Given the description of an element on the screen output the (x, y) to click on. 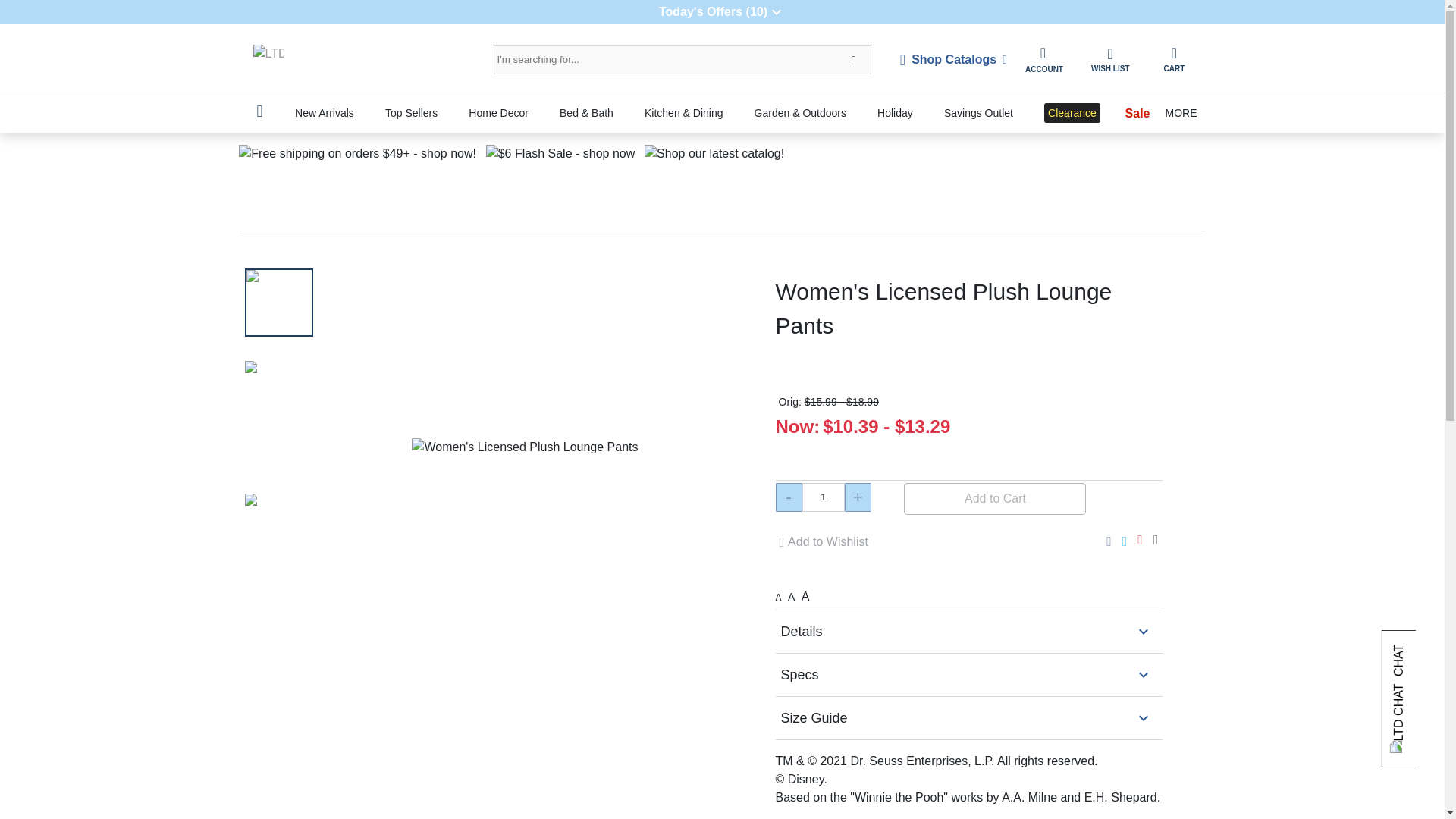
WISH LIST (1109, 59)
Women's Licensed Plush Lounge Pants (524, 447)
Women's Licensed Plush Lounge Pants (278, 302)
CART (1173, 59)
Top Sellers (411, 112)
LTD Commodities (268, 60)
1 (823, 497)
Home Decor (498, 112)
New Arrivals (323, 112)
